Given the description of an element on the screen output the (x, y) to click on. 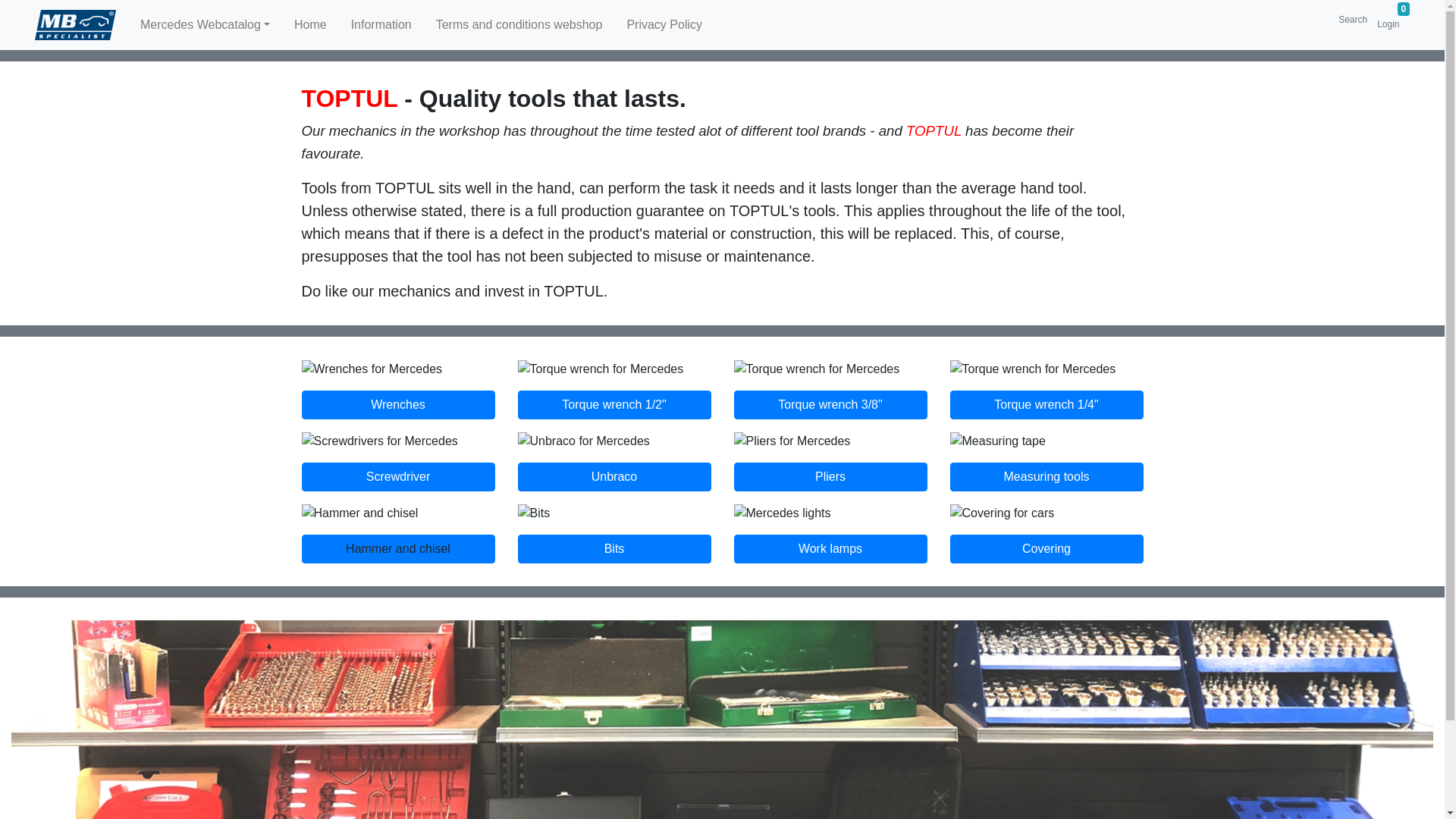
Login (1387, 25)
Terms and conditions webshop (518, 24)
Hammer and chisel (398, 548)
Privacy Policy (664, 24)
Bits (613, 548)
Home (310, 24)
Pliers (830, 476)
Search (1352, 19)
Work lamps (830, 548)
Covering (1045, 548)
Bits (613, 548)
Pliers (830, 476)
Mercedes Webcatalog (205, 24)
Measuring tools (1045, 476)
Unbraco (613, 476)
